Given the description of an element on the screen output the (x, y) to click on. 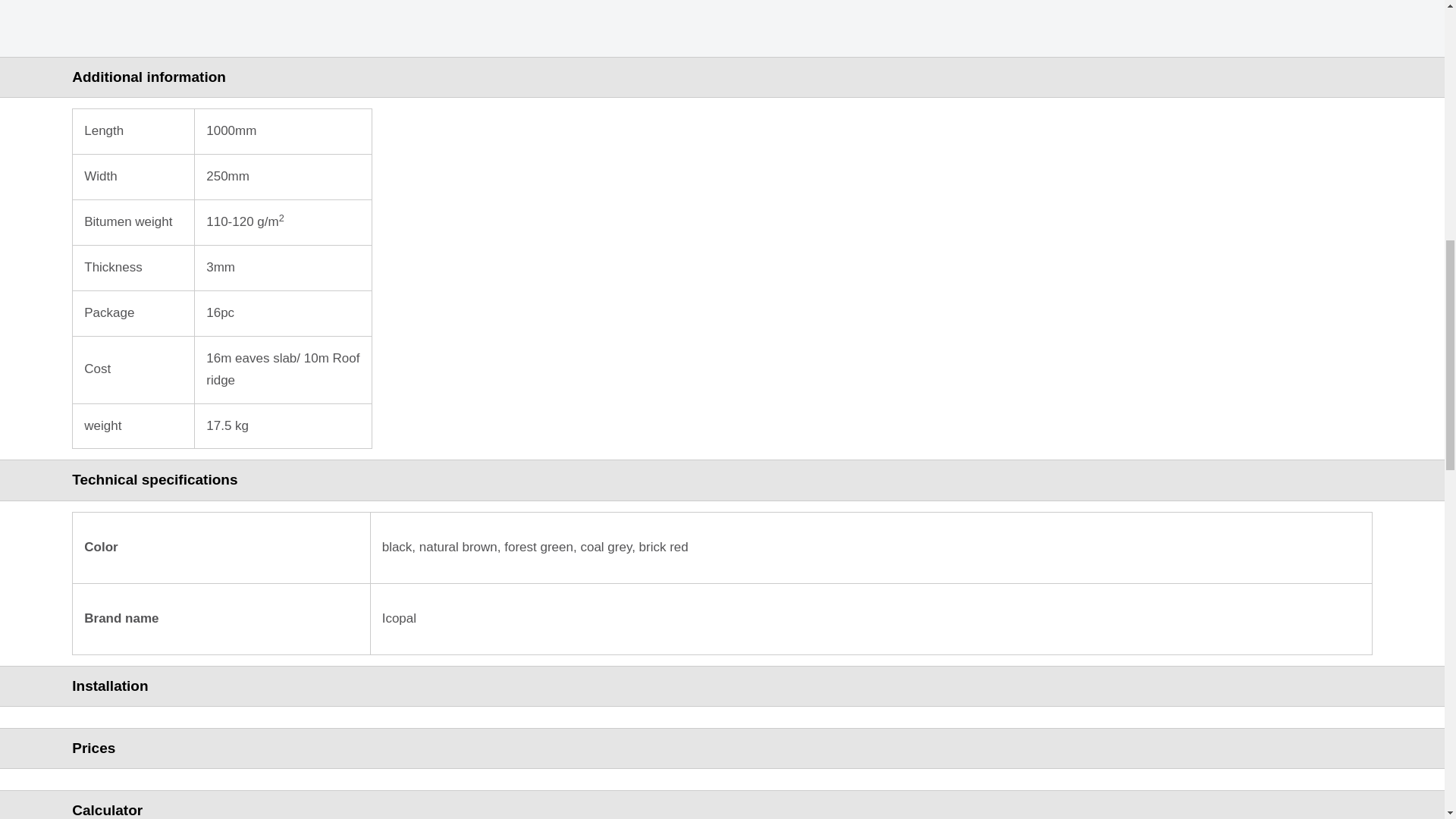
Additional information (722, 77)
Prices (722, 748)
Installation (722, 686)
Technical specifications (722, 479)
Calculator (722, 808)
